Given the description of an element on the screen output the (x, y) to click on. 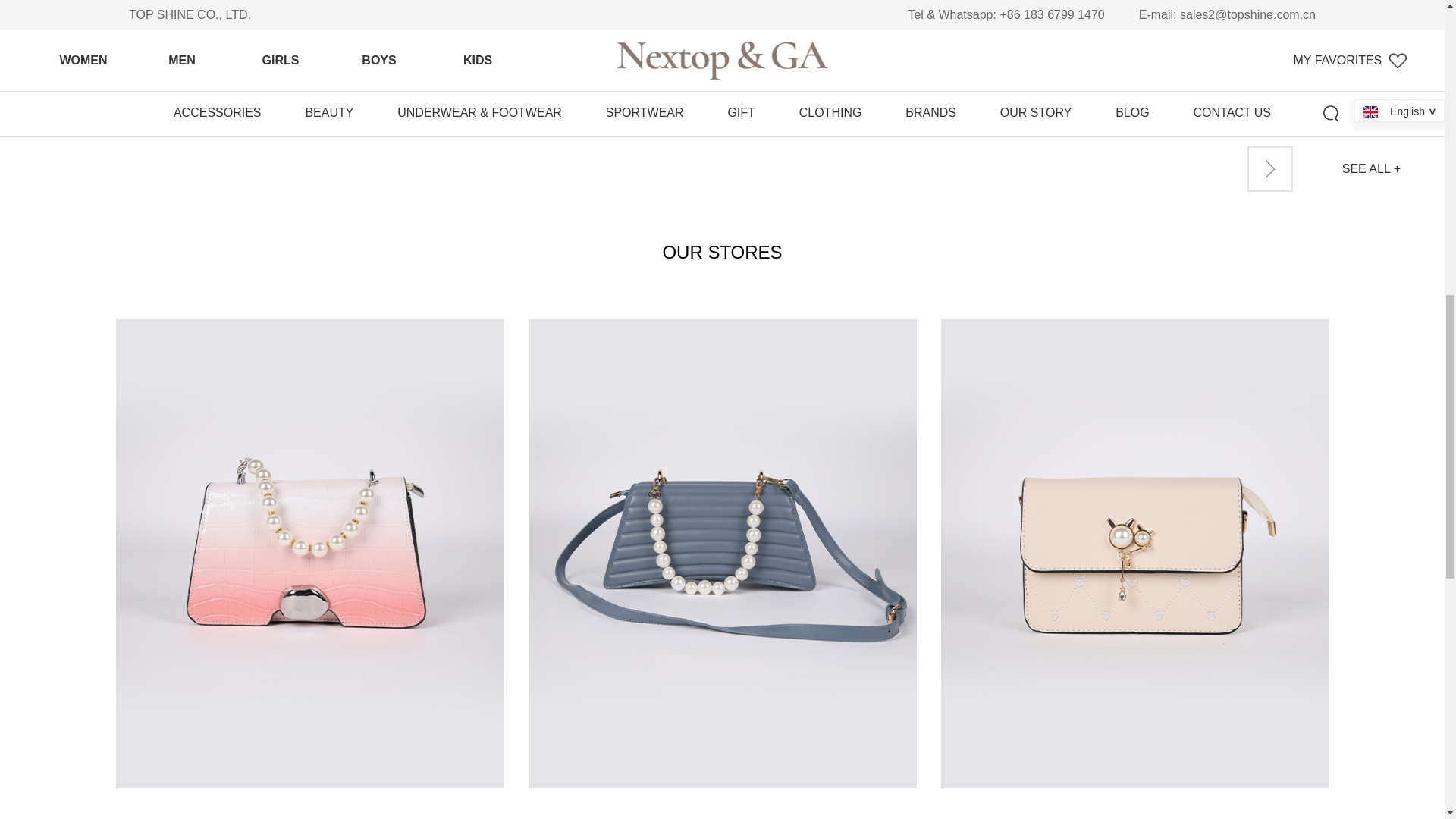
Send Inquiry (1036, 137)
Add to Cart (1036, 89)
